Given the description of an element on the screen output the (x, y) to click on. 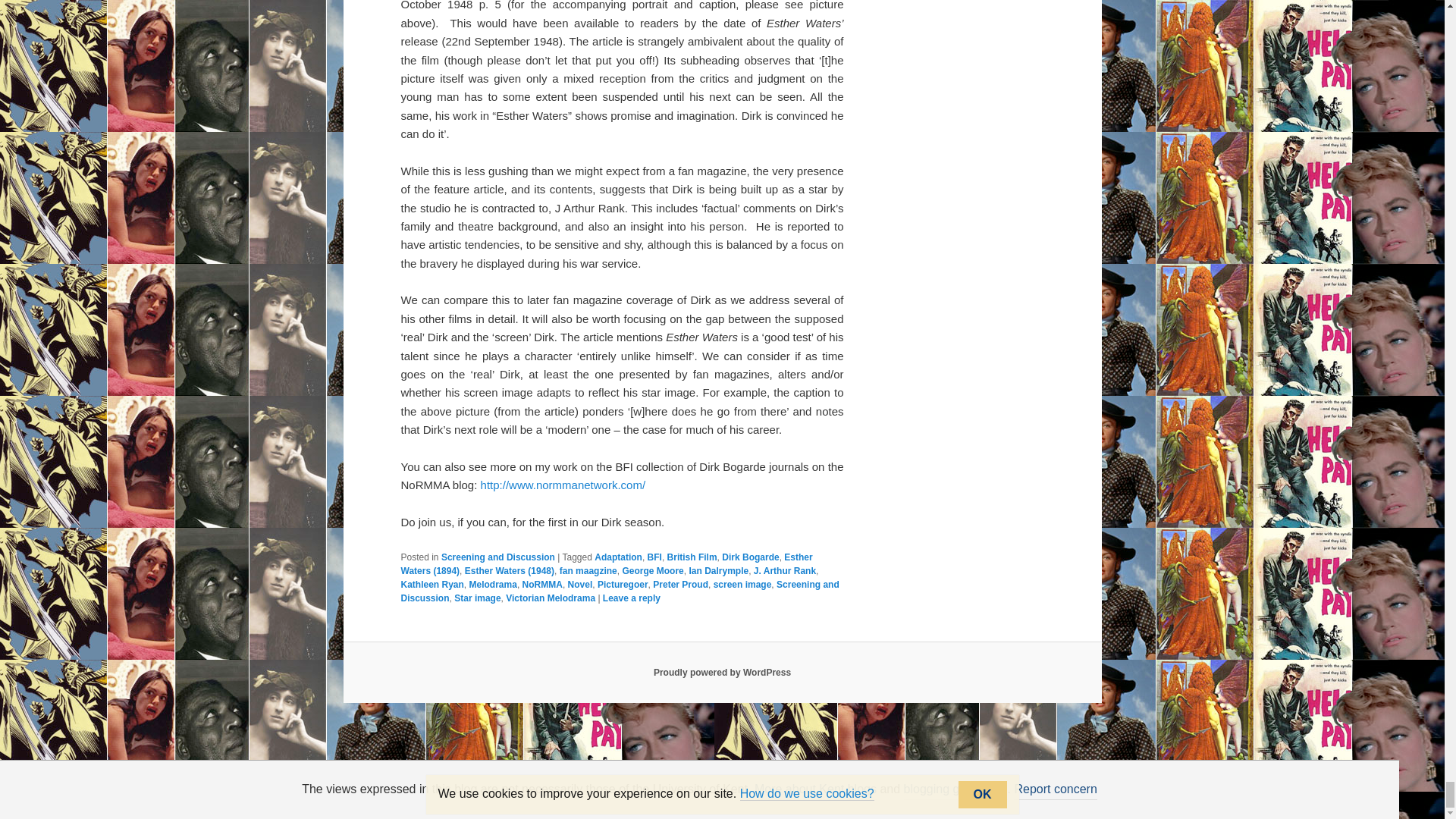
Semantic Personal Publishing Platform (721, 672)
